Given the description of an element on the screen output the (x, y) to click on. 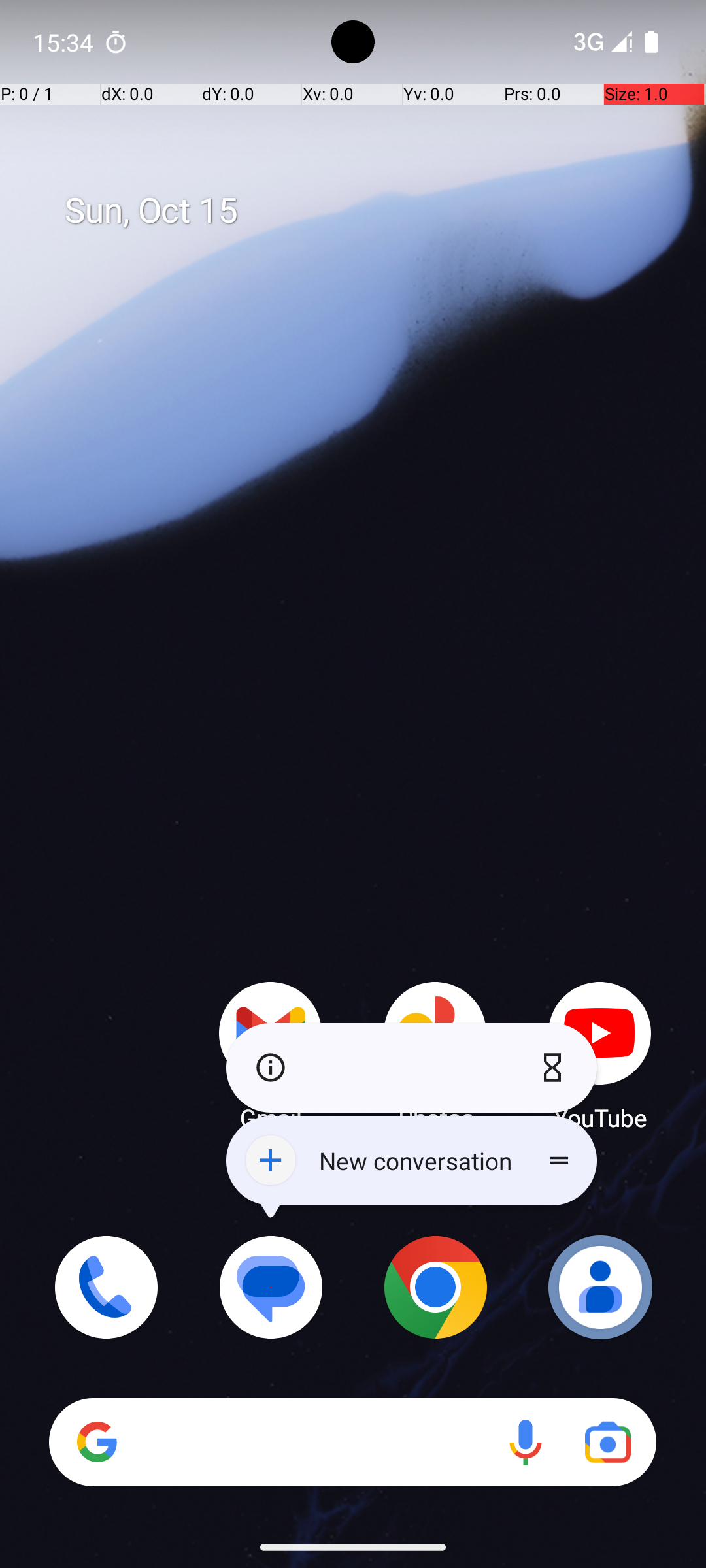
Pause app Element type: android.widget.ImageView (555, 1067)
